Given the description of an element on the screen output the (x, y) to click on. 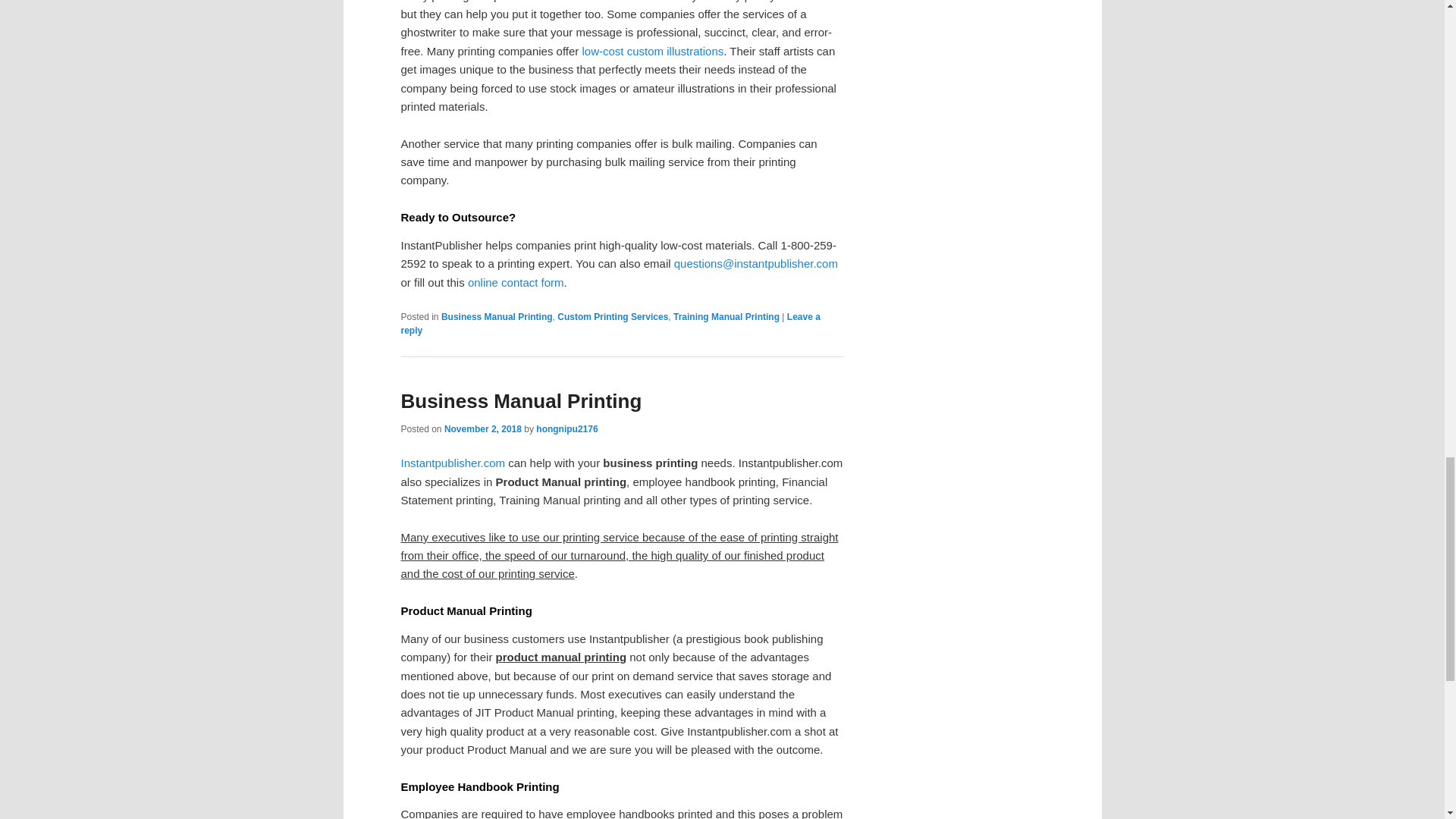
November 2, 2018 (482, 429)
View all posts by hongnipu2176 (565, 429)
Instantpublisher.com (452, 462)
Training Manual Printing (725, 317)
business manual printing (452, 462)
low-cost custom illustrations (652, 51)
Custom Printing Services (612, 317)
Business Manual Printing (521, 400)
online contact form (515, 282)
10:47 am (482, 429)
Leave a reply (609, 323)
Business Manual Printing (497, 317)
hongnipu2176 (565, 429)
